Given the description of an element on the screen output the (x, y) to click on. 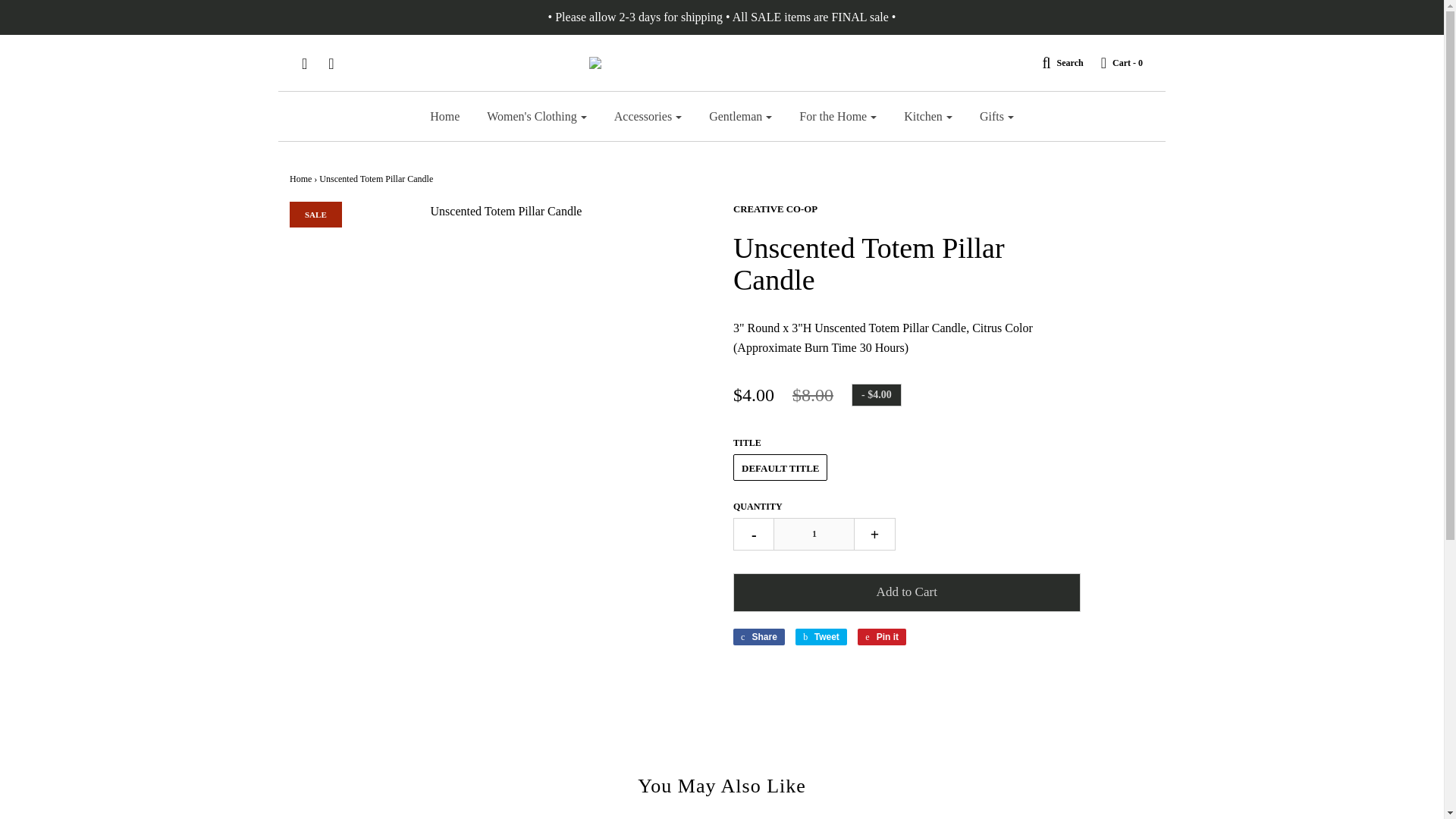
Back to the frontpage (300, 178)
Cart (1114, 62)
Home (444, 116)
Cart - 0 (1114, 62)
Search (1054, 62)
1 (813, 533)
Search (1054, 62)
Women's Clothing (536, 116)
